Given the description of an element on the screen output the (x, y) to click on. 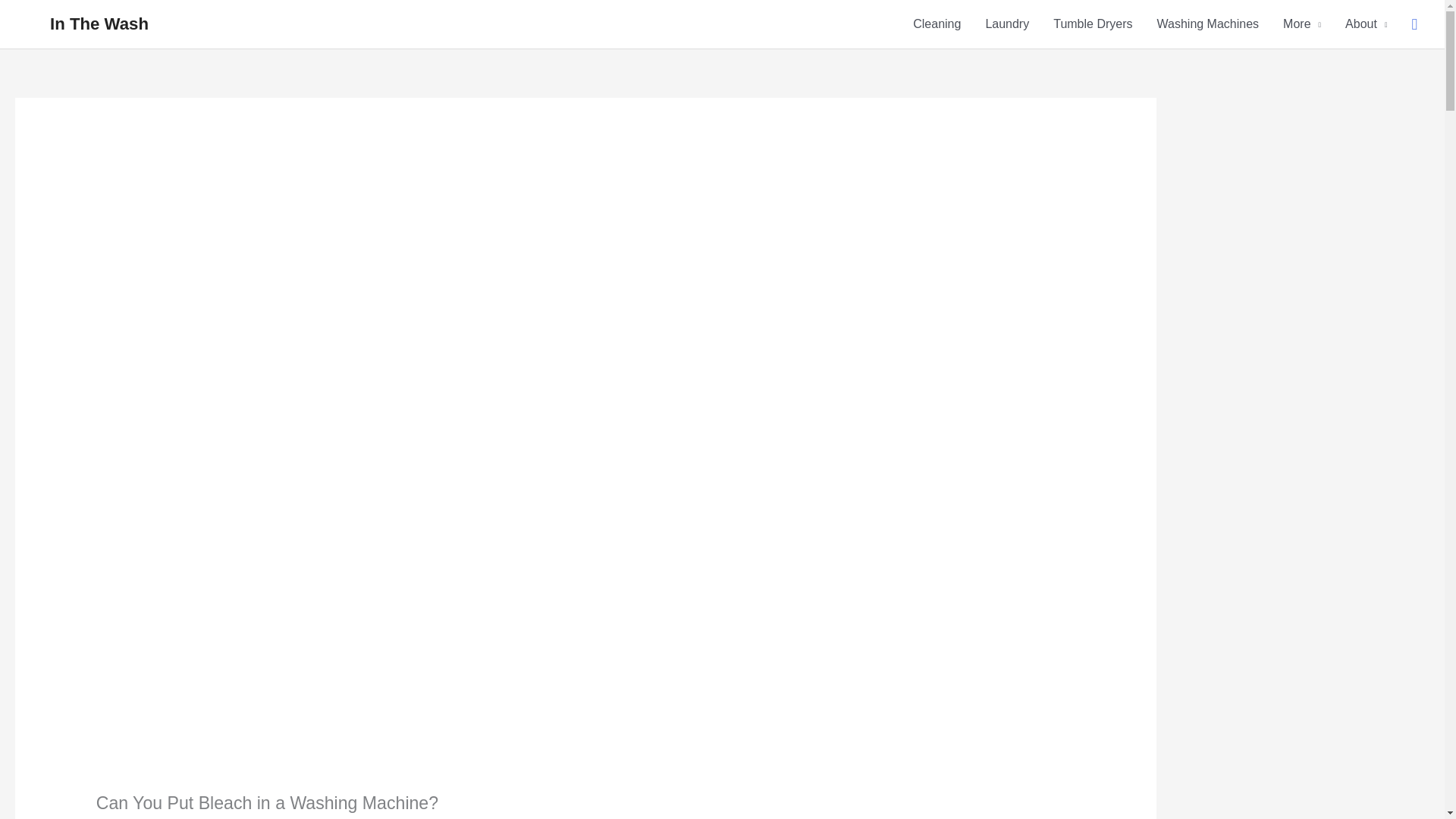
In The Wash (98, 23)
More (1302, 24)
Cleaning (936, 24)
Tumble Dryers (1092, 24)
About (1366, 24)
Laundry (1006, 24)
Washing Machines (1207, 24)
